Given the description of an element on the screen output the (x, y) to click on. 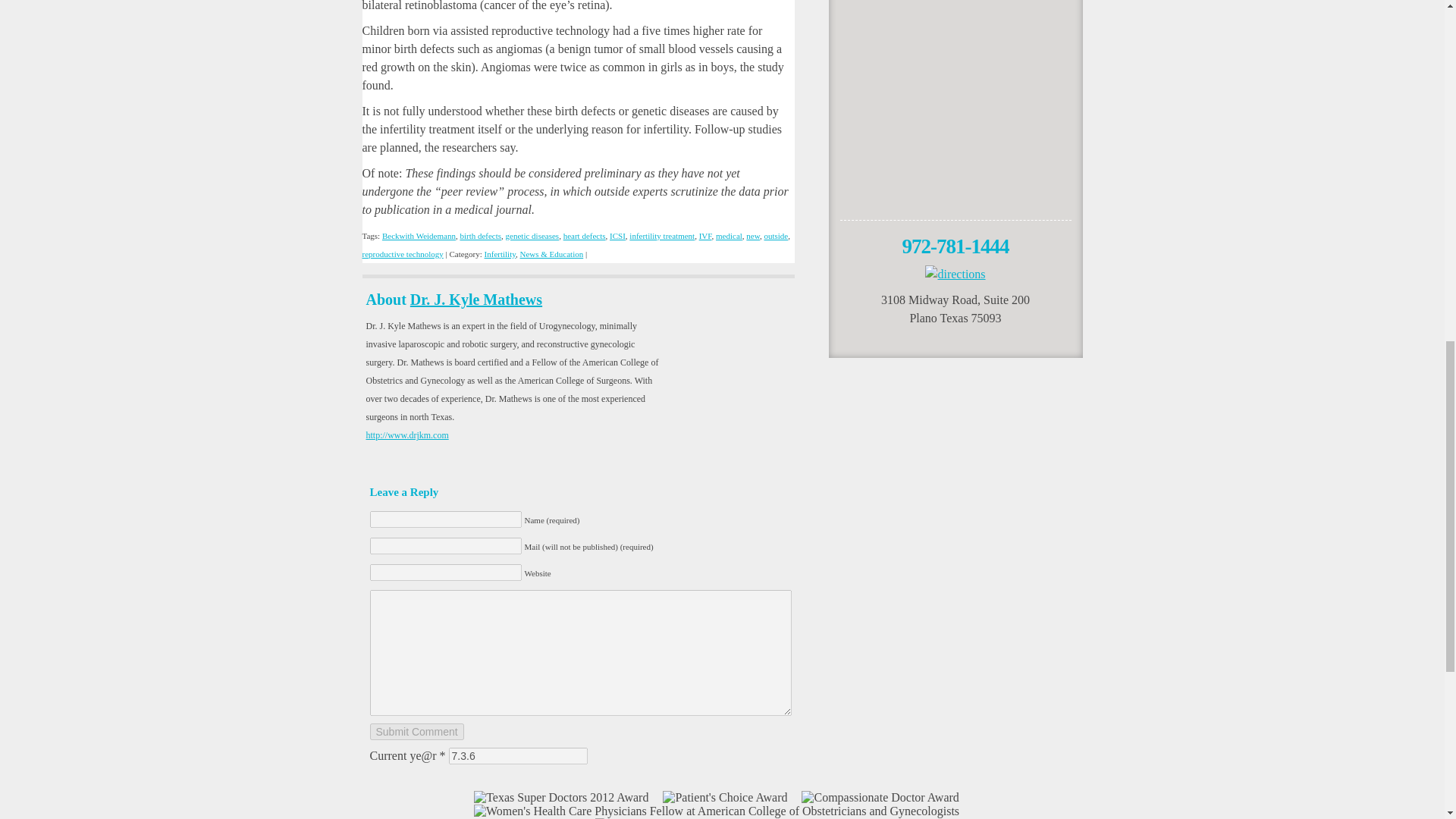
outside (774, 235)
Dr. J. Kyle Mathews (475, 299)
reproductive technology (403, 253)
new (752, 235)
heart defects (584, 235)
infertility treatment (661, 235)
Submit Comment (416, 731)
IVF (704, 235)
Infertility (499, 253)
Beckwith Weidemann (418, 235)
